Given the description of an element on the screen output the (x, y) to click on. 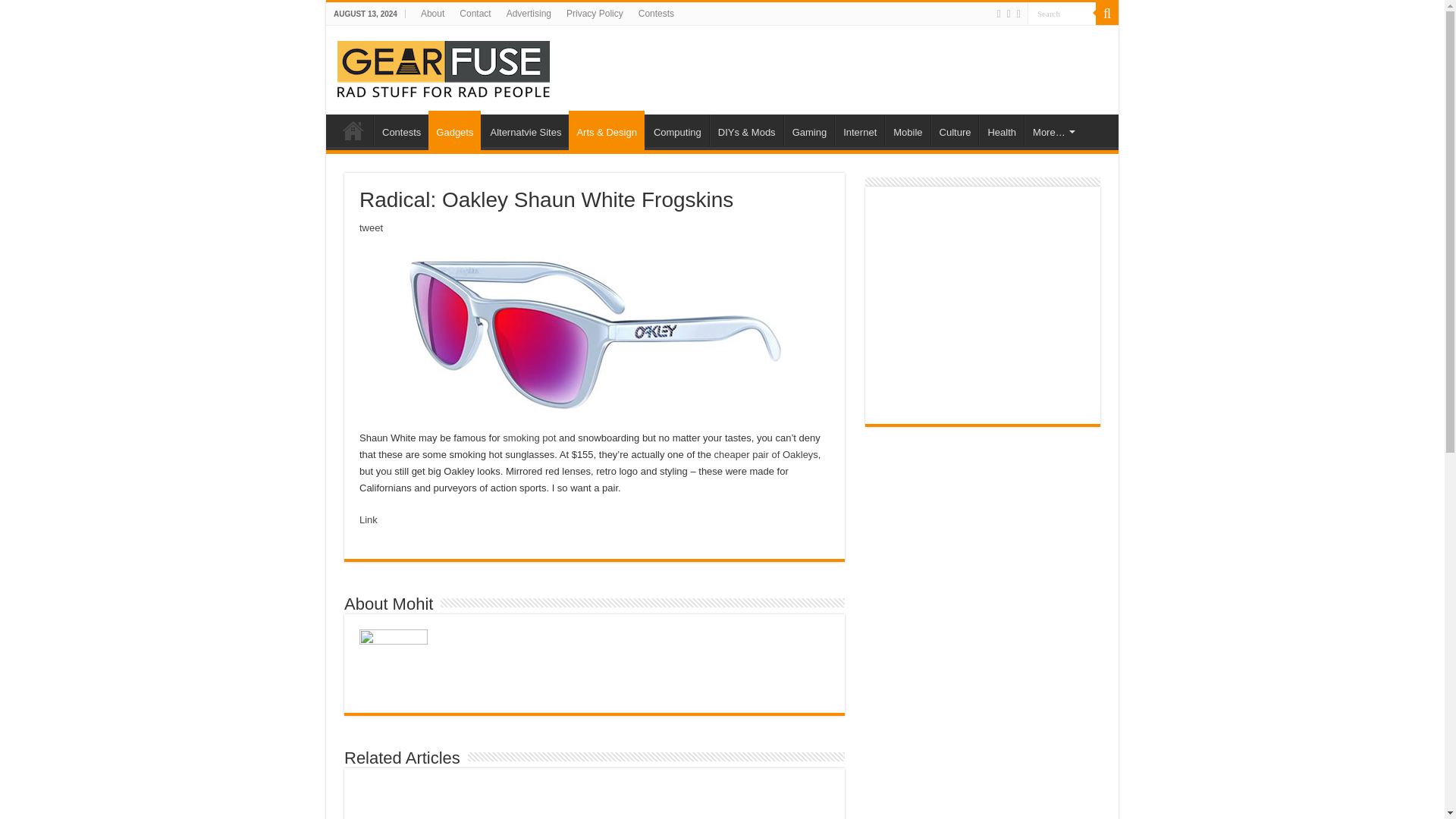
Privacy Policy (594, 13)
About (432, 13)
Search (1061, 13)
Contests (655, 13)
Contact (474, 13)
shaunfrogjpg (594, 331)
Gearfuse (443, 67)
Search (1061, 13)
Search (1107, 13)
Advertising (529, 13)
